Given the description of an element on the screen output the (x, y) to click on. 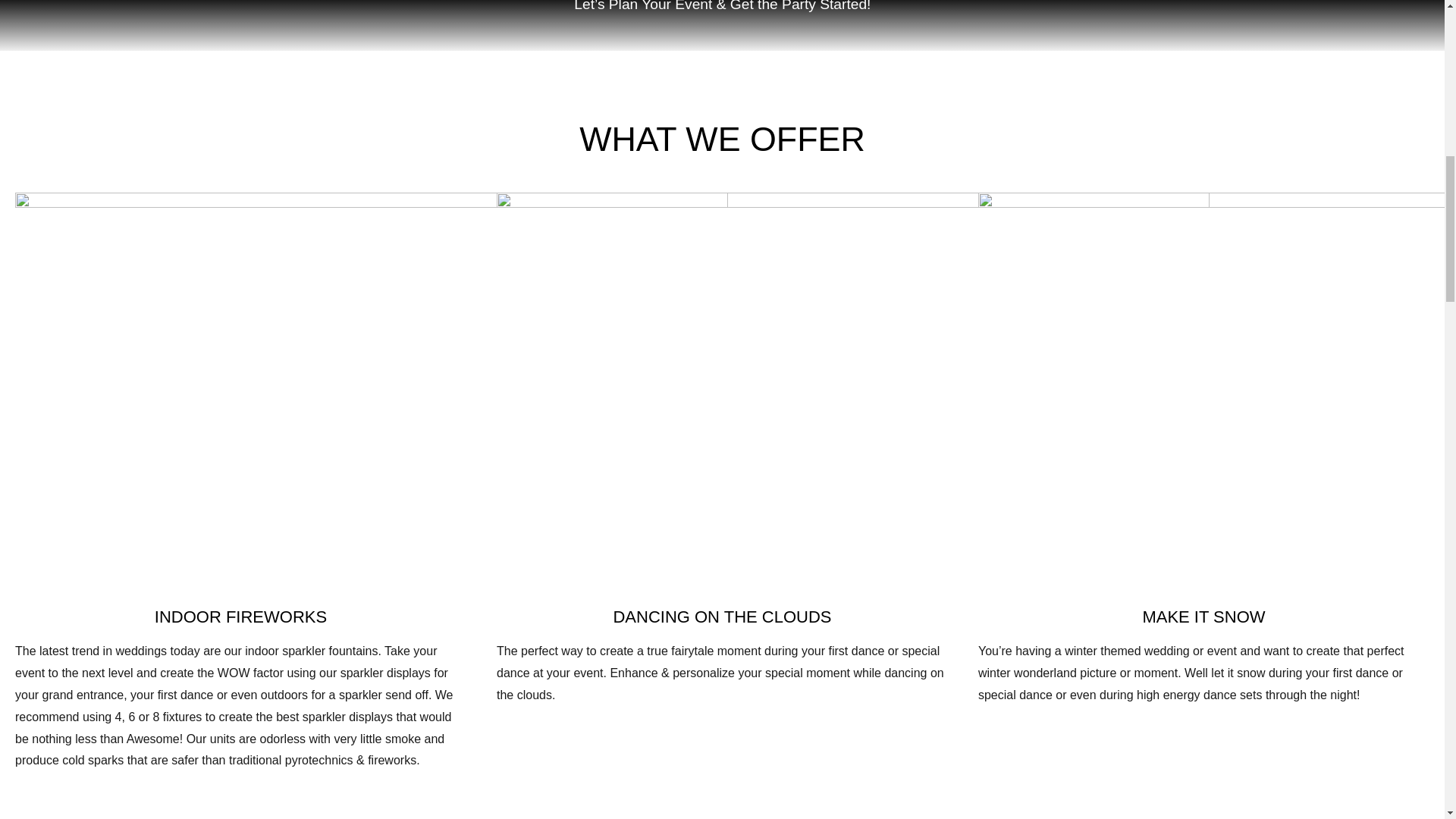
INDOOR FIREWORKS (240, 616)
DANCING ON THE CLOUDS (721, 616)
MAKE IT SNOW (1203, 616)
